Given the description of an element on the screen output the (x, y) to click on. 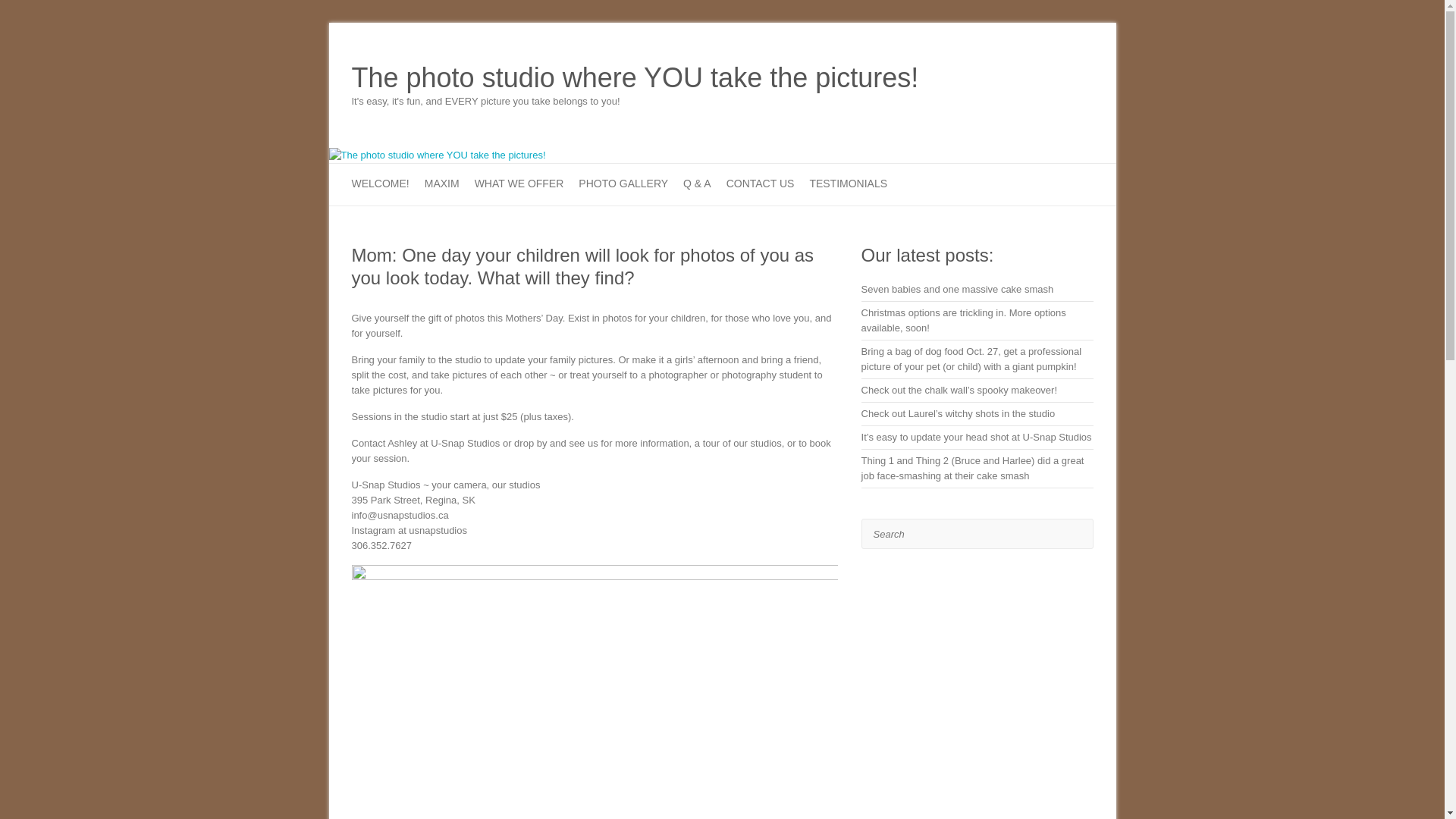
WELCOME! (380, 184)
The photo studio where YOU take the pictures! (437, 154)
The photo studio where YOU take the pictures! (635, 78)
PHOTO GALLERY (623, 184)
WHAT WE OFFER (519, 184)
CONTACT US (760, 184)
The photo studio where YOU take the pictures! (635, 78)
TESTIMONIALS (847, 184)
Seven babies and one massive cake smash (957, 288)
